Given the description of an element on the screen output the (x, y) to click on. 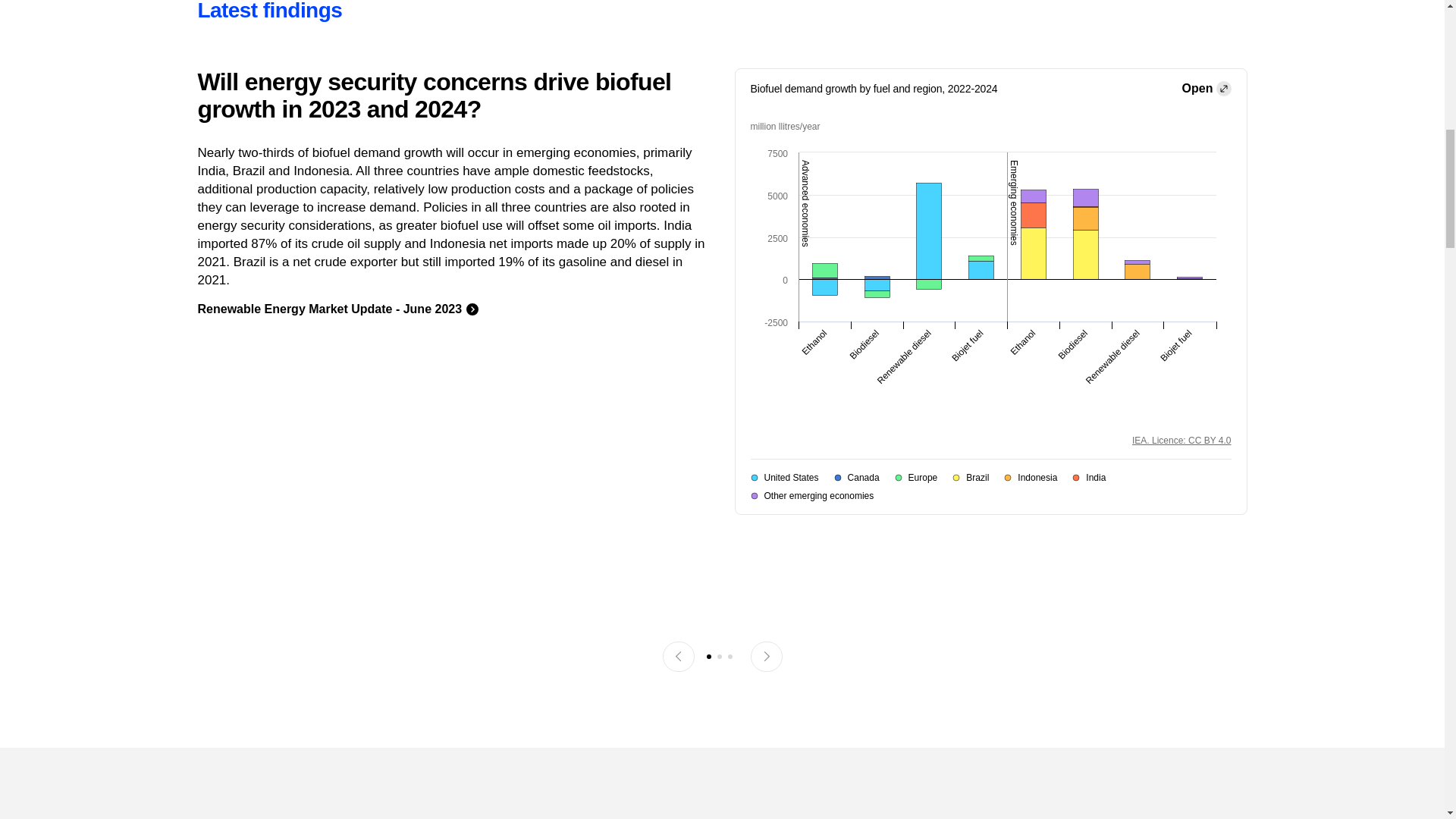
Next slide (765, 656)
Previous slide (677, 656)
